Given the description of an element on the screen output the (x, y) to click on. 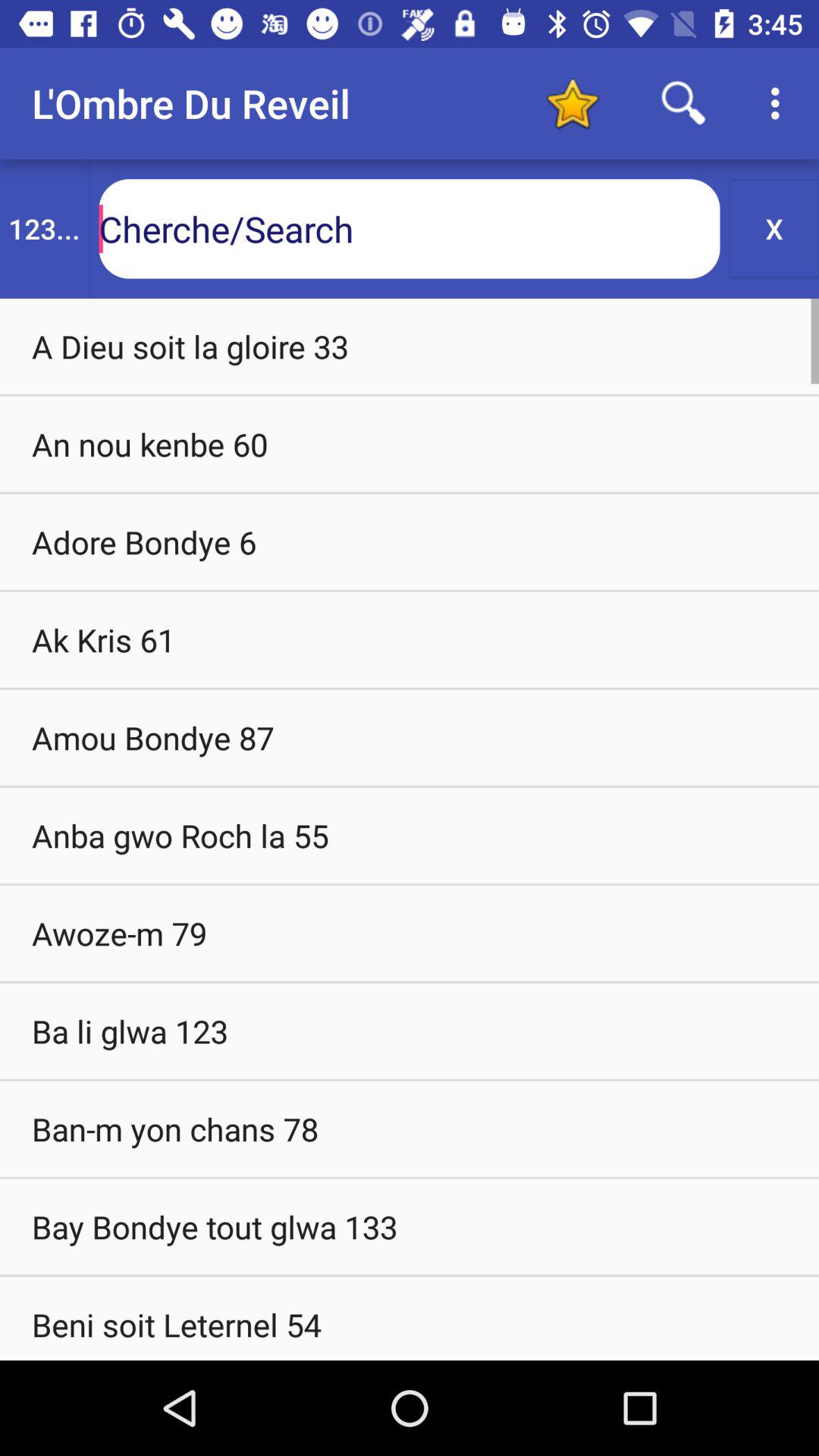
turn on amou bondye 87 icon (409, 737)
